Given the description of an element on the screen output the (x, y) to click on. 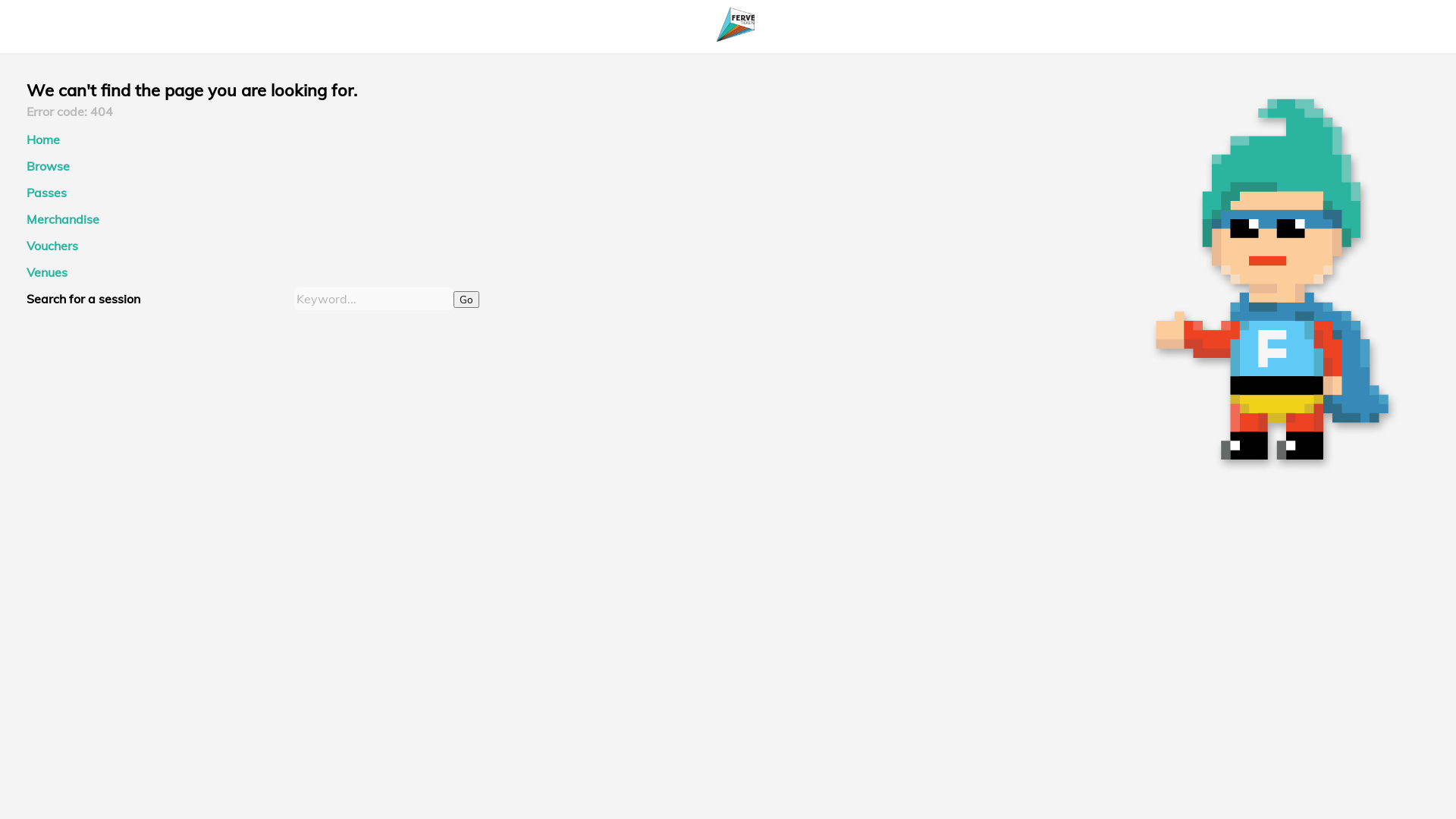
Merchandise Element type: text (62, 218)
Browse Element type: text (47, 165)
Passes Element type: text (46, 192)
Vouchers Element type: text (52, 245)
Go Element type: text (466, 299)
Venues Element type: text (46, 271)
Home Element type: text (42, 139)
